Given the description of an element on the screen output the (x, y) to click on. 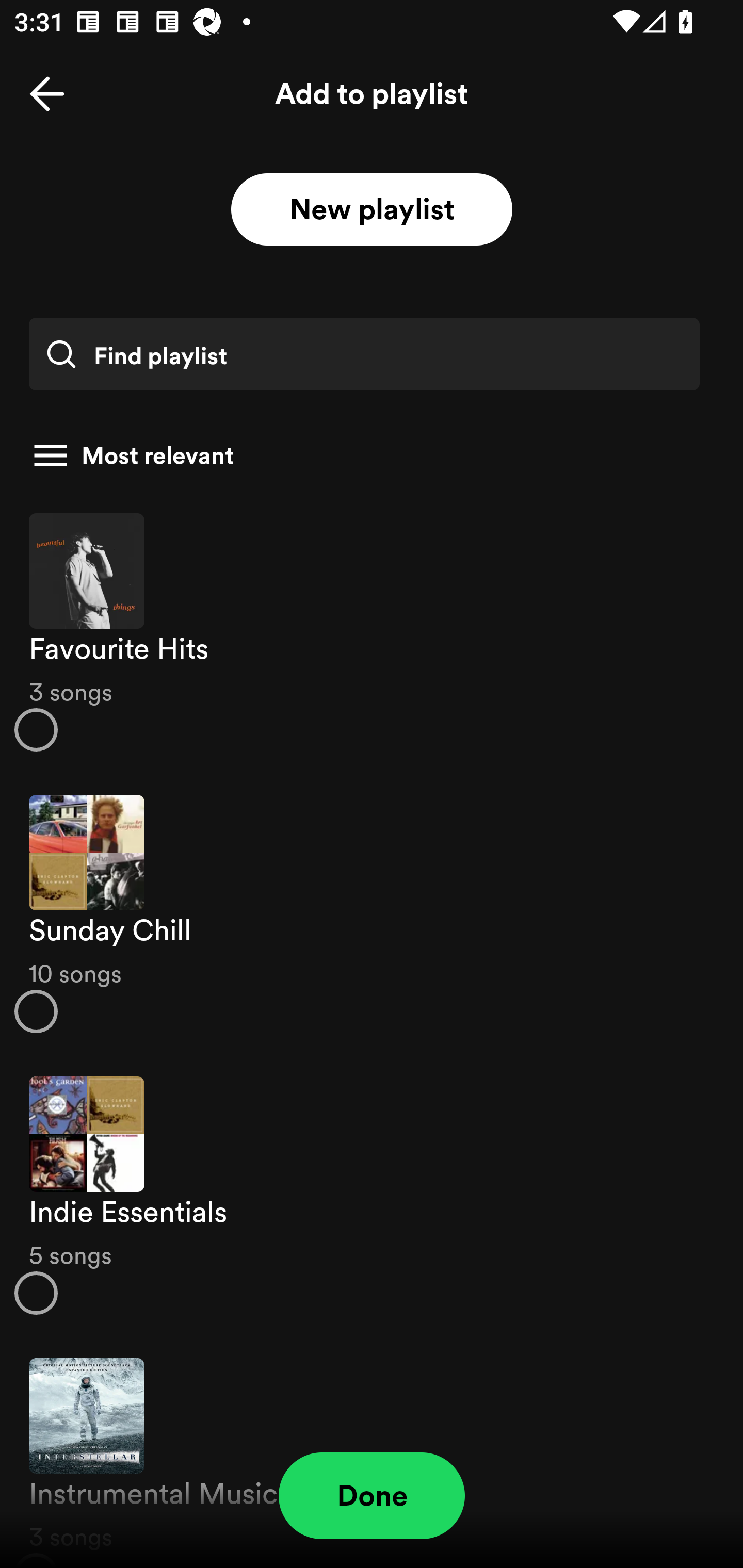
Back (46, 93)
New playlist (371, 210)
Find playlist (363, 354)
Most relevant (363, 455)
Favourite Hits 3 songs (371, 631)
Sunday Chill 10 songs (371, 914)
Indie Essentials 5 songs (371, 1195)
Instrumental Music 3 songs (371, 1451)
Done (371, 1495)
